Given the description of an element on the screen output the (x, y) to click on. 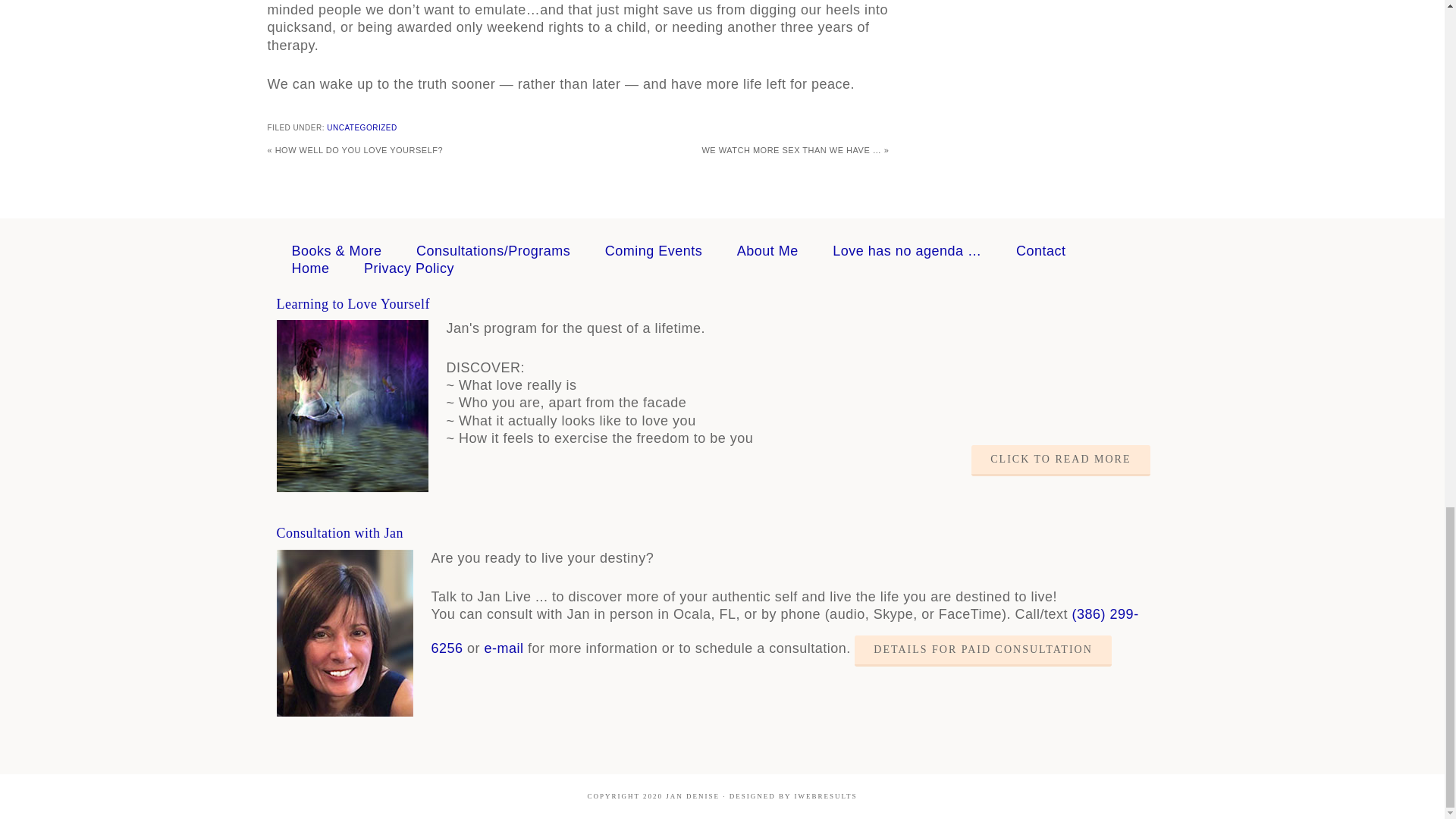
Web Design Ocala (825, 796)
DETAILS FOR PAID CONSULTATION (982, 650)
Privacy Policy (409, 268)
CLICK TO READ MORE (1060, 460)
Home (310, 268)
About Me (766, 250)
UNCATEGORIZED (361, 127)
Coming Events (654, 250)
Contact (1040, 250)
e-mail (504, 648)
